Given the description of an element on the screen output the (x, y) to click on. 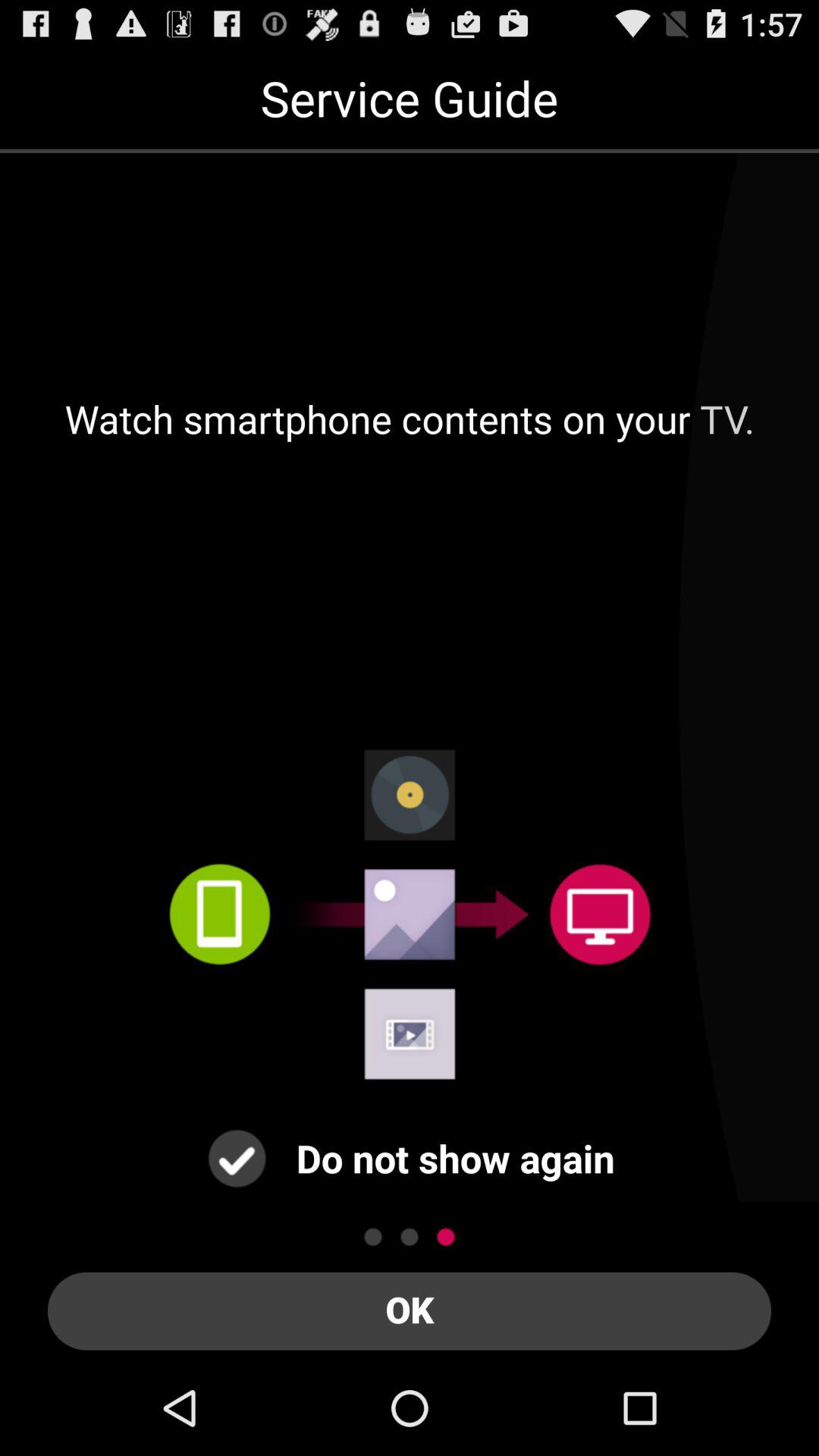
do n't show again check box (237, 1158)
